Given the description of an element on the screen output the (x, y) to click on. 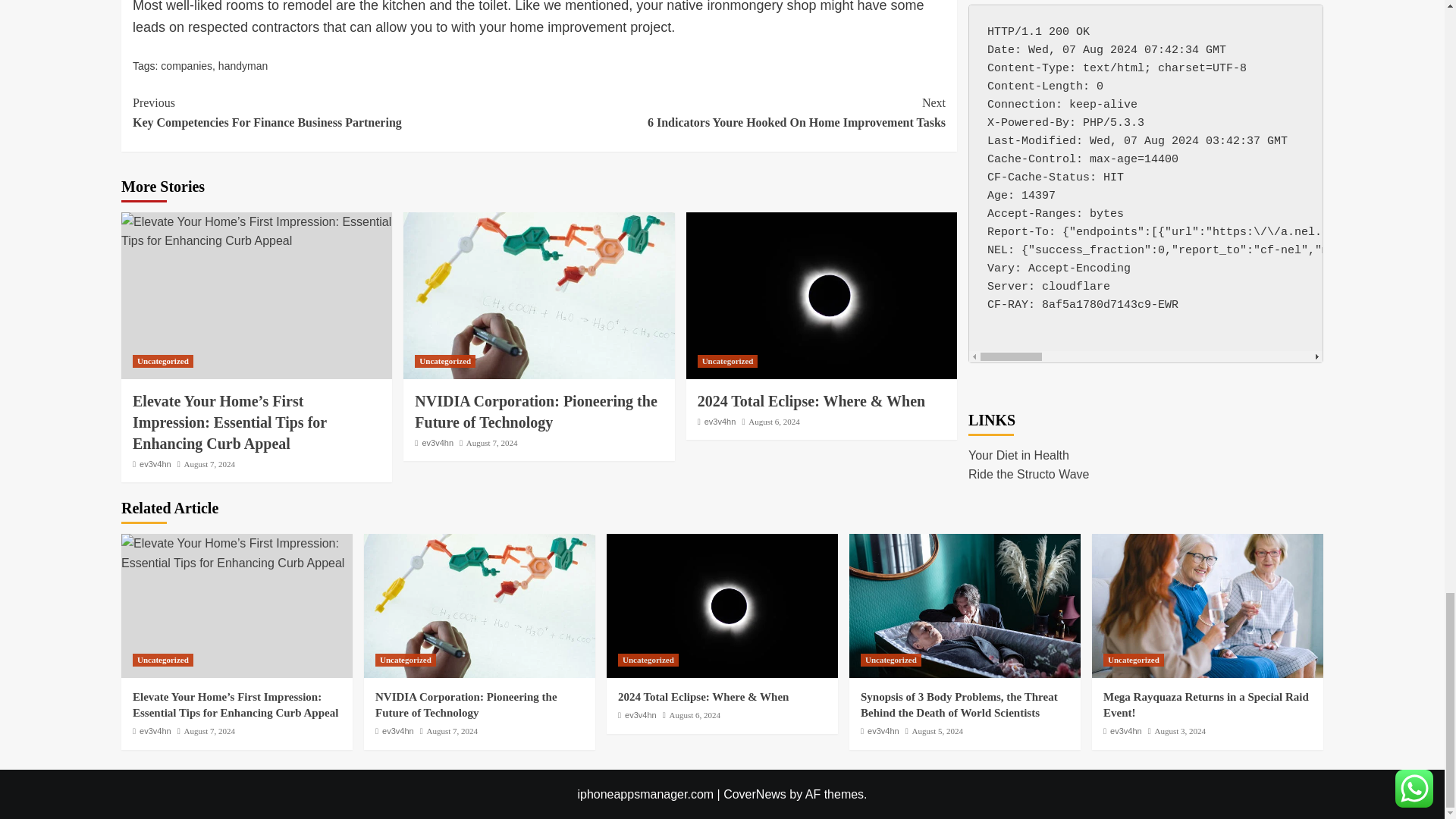
Uncategorized (162, 360)
handyman (335, 112)
companies (242, 65)
NVIDIA Corporation: Pioneering the Future of Technology (186, 65)
ev3v4hn (538, 295)
